Given the description of an element on the screen output the (x, y) to click on. 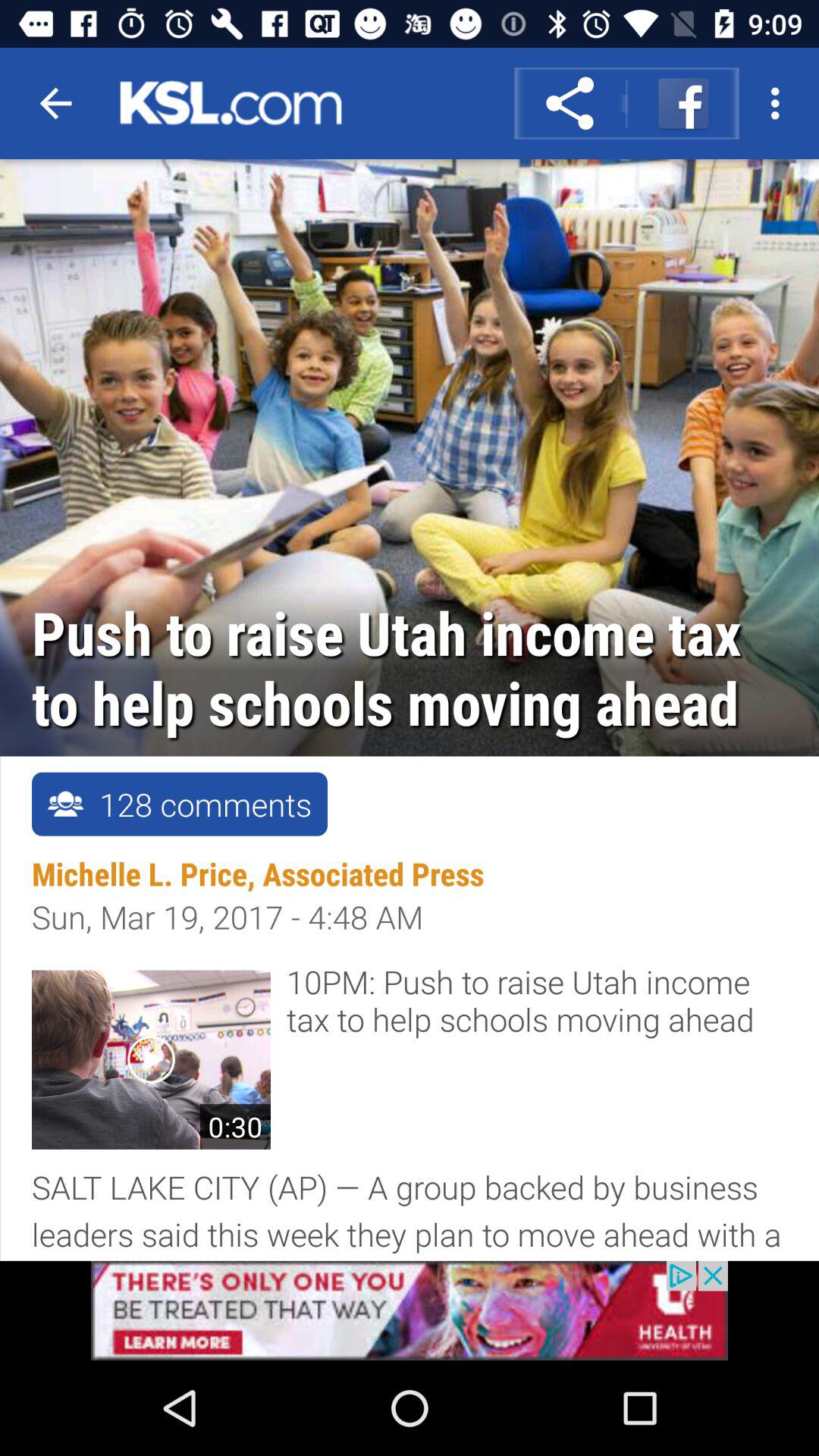
advert (409, 1310)
